Given the description of an element on the screen output the (x, y) to click on. 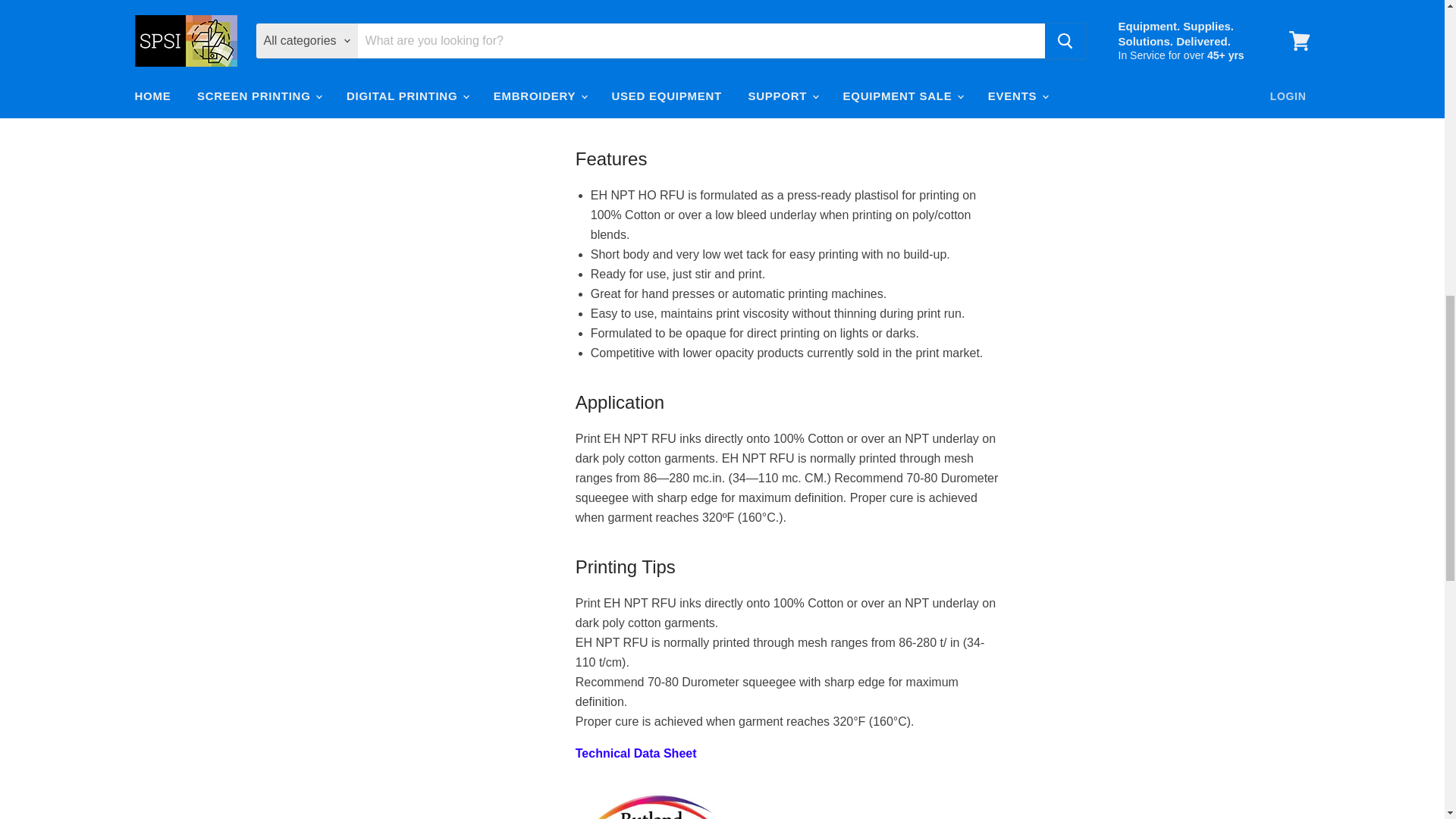
Rutland EH8033 NPT Solid Black technical data sheet (636, 753)
